Given the description of an element on the screen output the (x, y) to click on. 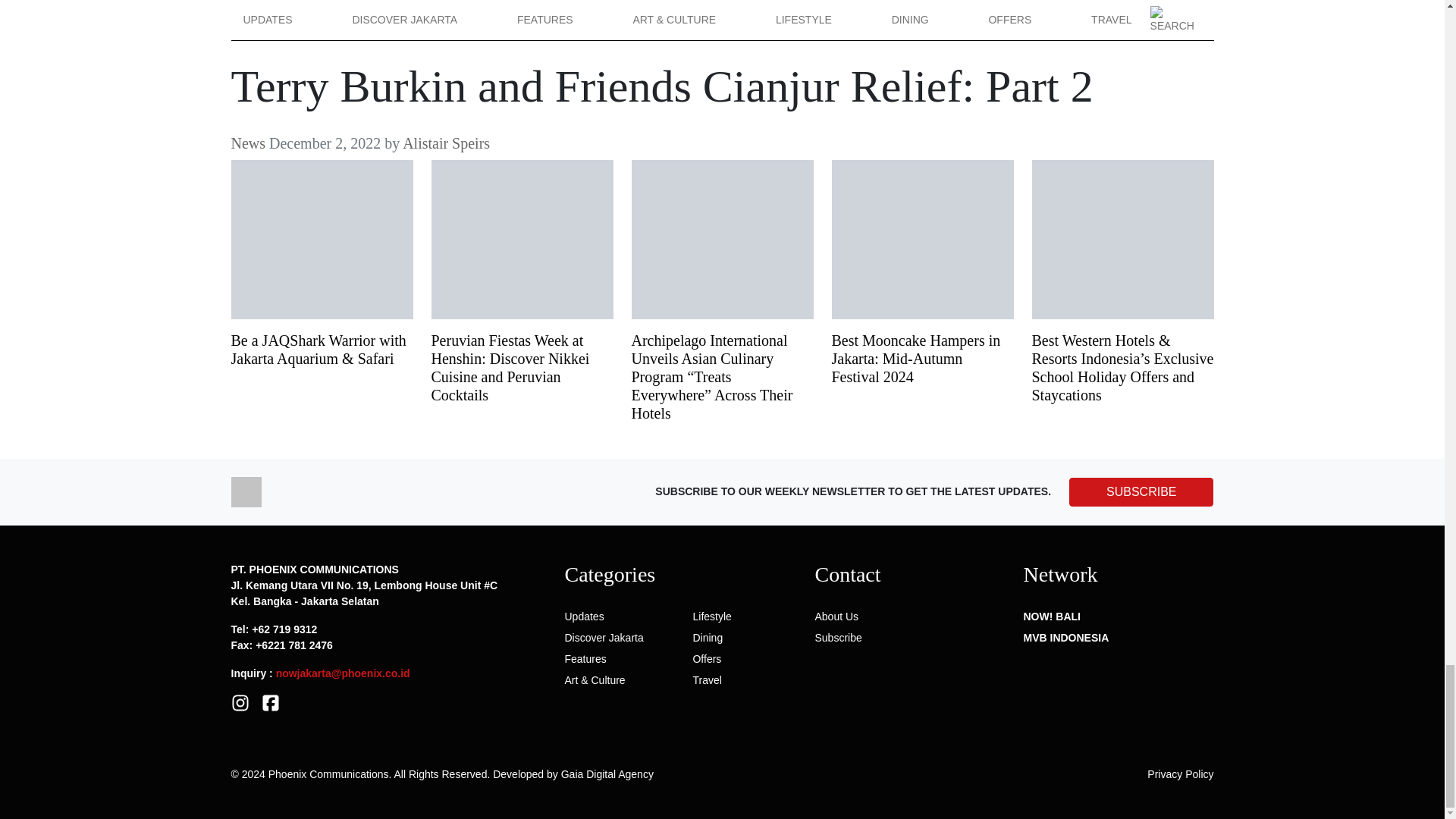
Instagraqm (239, 702)
Facebook (269, 702)
